Given the description of an element on the screen output the (x, y) to click on. 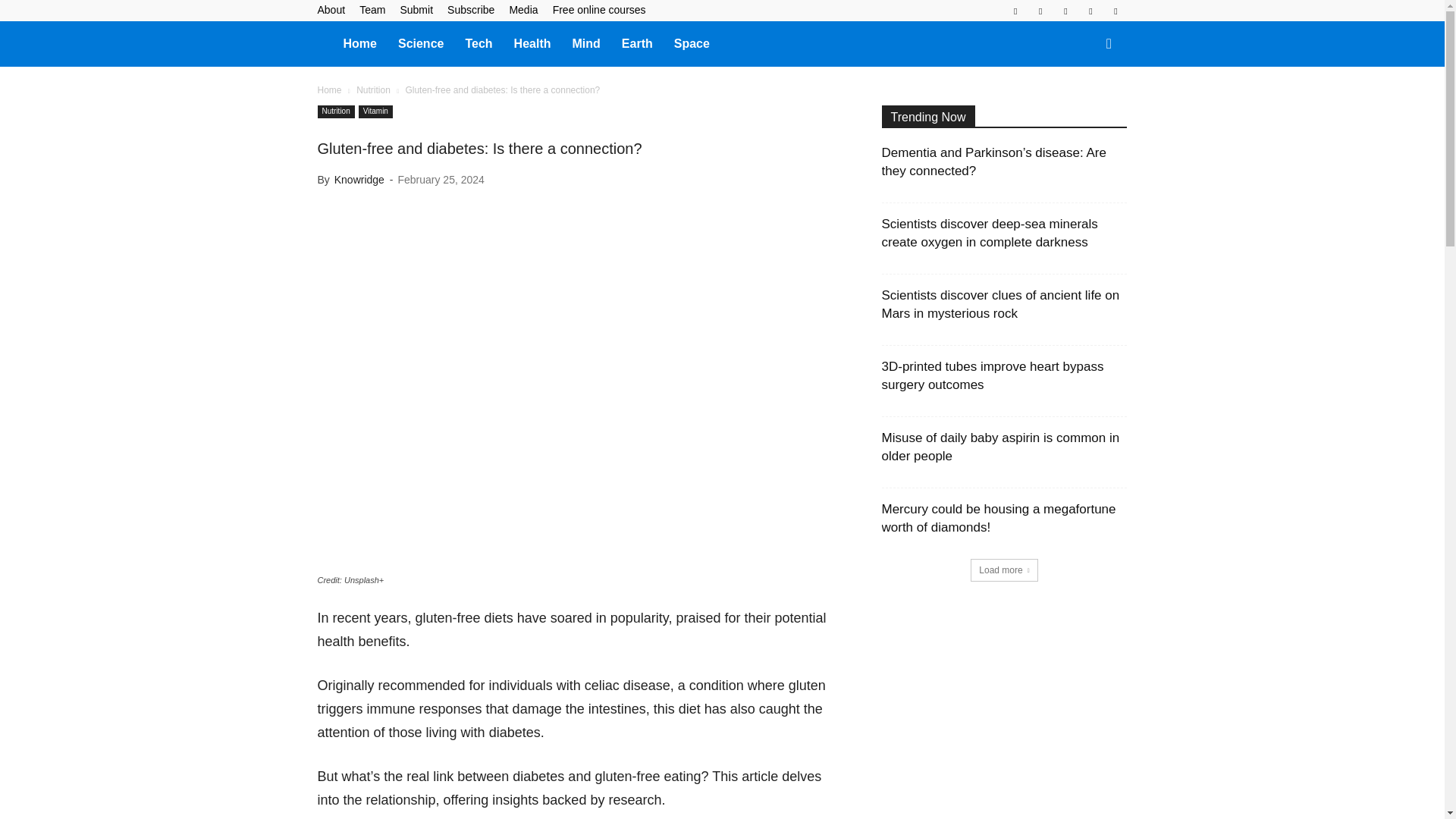
Subscribe (470, 9)
RSS (1065, 10)
Linkedin (1040, 10)
Knowridge Science Report (324, 42)
Free online courses (599, 9)
Media (522, 9)
Team (372, 9)
Facebook (1015, 10)
Twitter (1090, 10)
Submit (415, 9)
About (331, 9)
View all posts in Nutrition (373, 90)
Website (1114, 10)
